Given the description of an element on the screen output the (x, y) to click on. 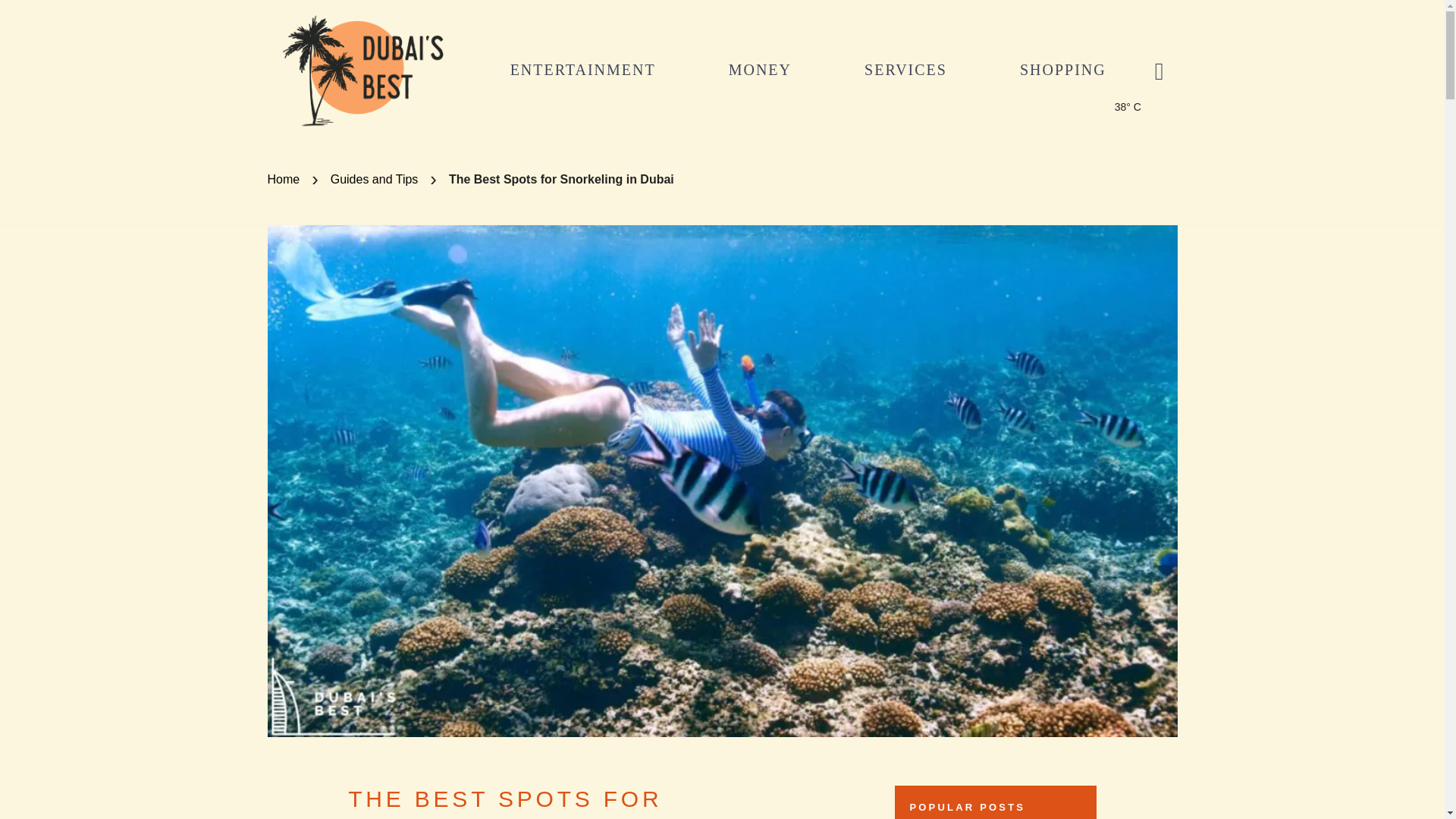
SERVICES (905, 69)
SHOPPING (1063, 69)
ENTERTAINMENT (583, 69)
